Given the description of an element on the screen output the (x, y) to click on. 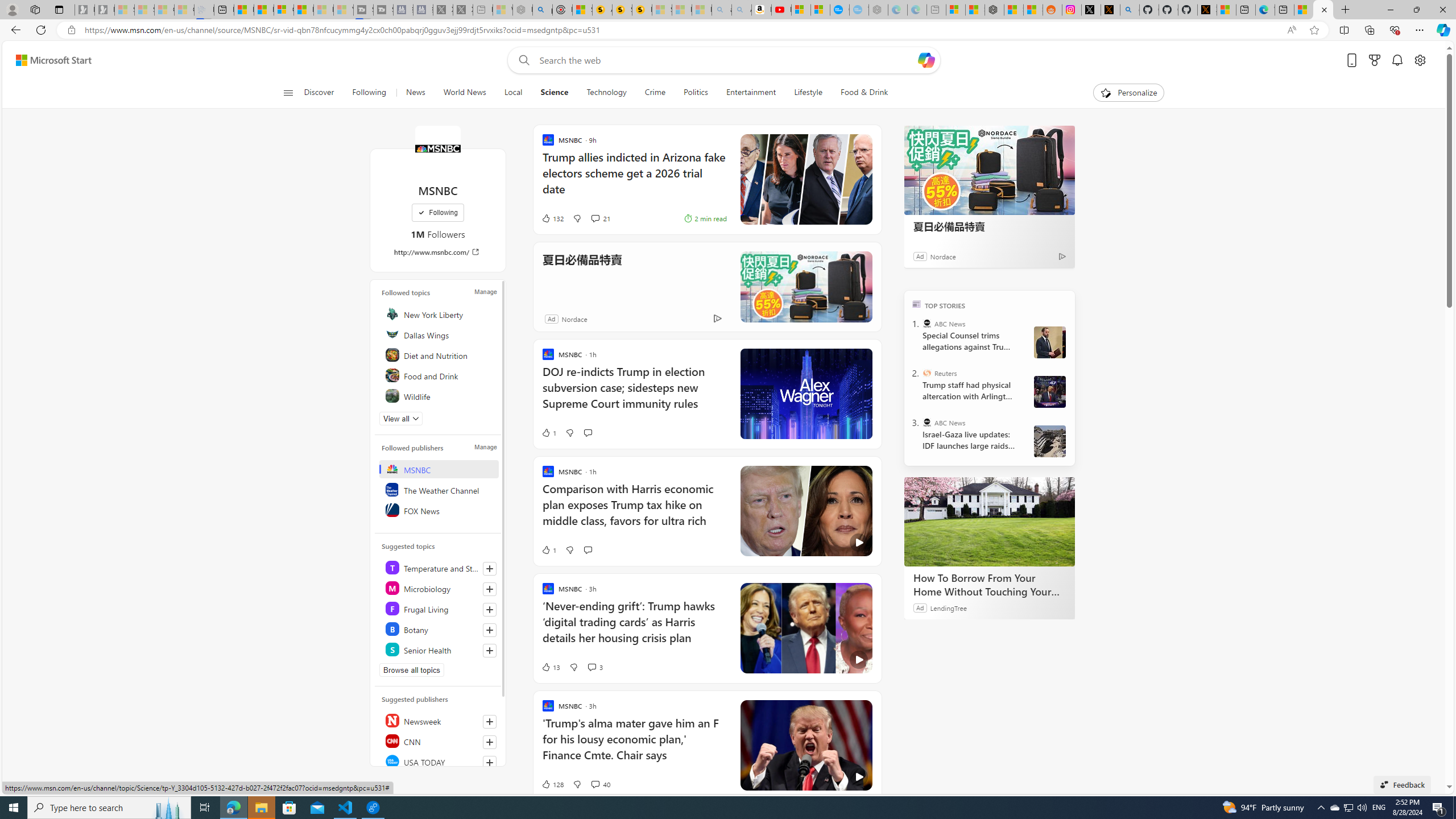
Technology (606, 92)
help.x.com | 524: A timeout occurred (1110, 9)
Follow this topic (489, 650)
Local (512, 92)
Crime (655, 92)
132 Like (551, 218)
View comments 40 Comment (599, 784)
Politics (695, 92)
Log in to X / X (1090, 9)
Shanghai, China Weather trends | Microsoft Weather (1033, 9)
